Given the description of an element on the screen output the (x, y) to click on. 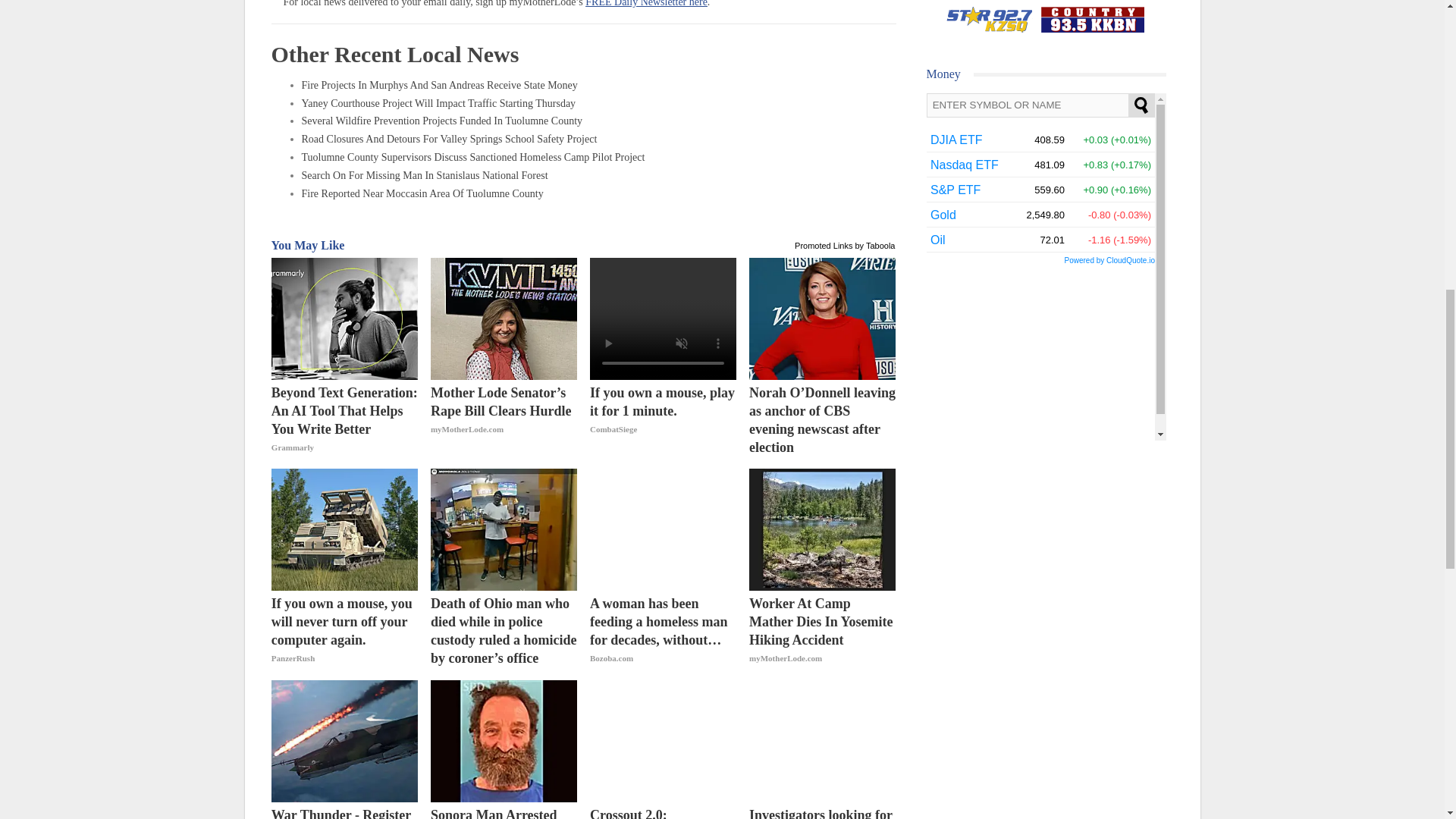
If you own a mouse, play it for 1 minute. (662, 420)
